Given the description of an element on the screen output the (x, y) to click on. 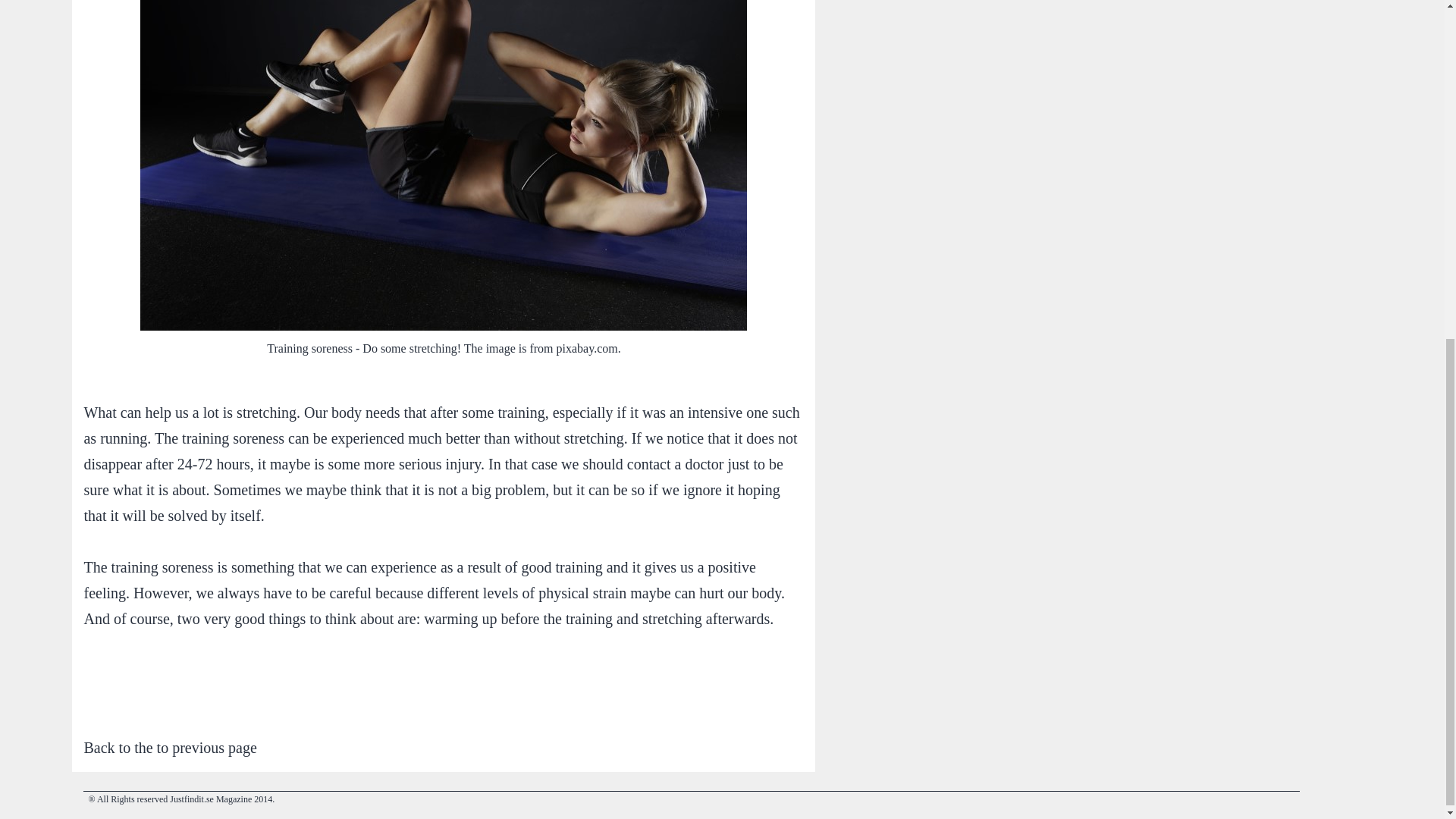
Back to the to previous page (169, 747)
Justfindit.se Magazine (210, 798)
pixabay.com (586, 348)
